Given the description of an element on the screen output the (x, y) to click on. 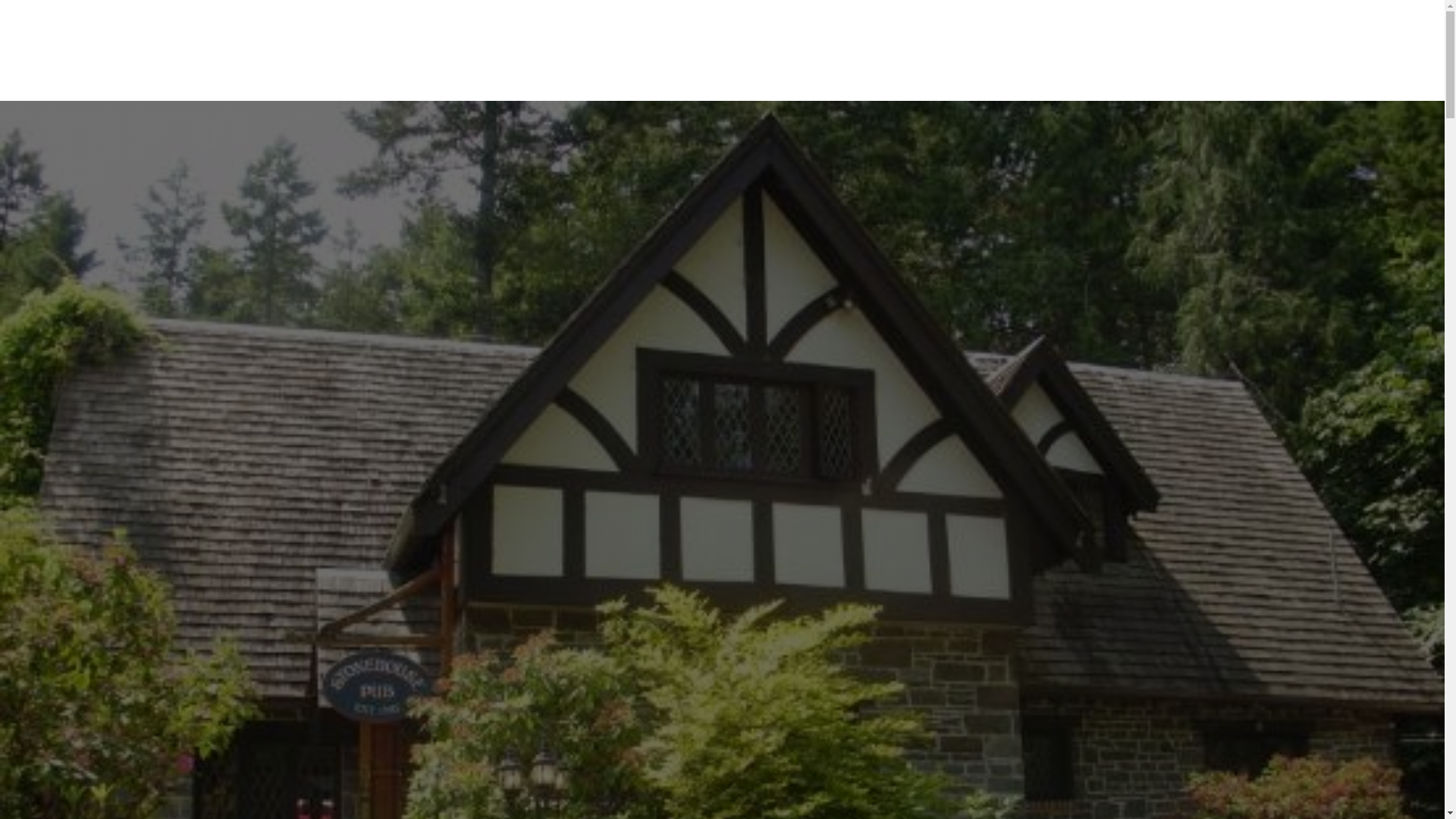
Lunch and Dinner Menu (906, 38)
About Us (1066, 38)
Happy Hour (826, 38)
Contact (1078, 61)
Stonehouse Pub - Sidney BC (478, 62)
Drink Menu (725, 38)
Off Sales (975, 38)
Menu (906, 38)
